Given the description of an element on the screen output the (x, y) to click on. 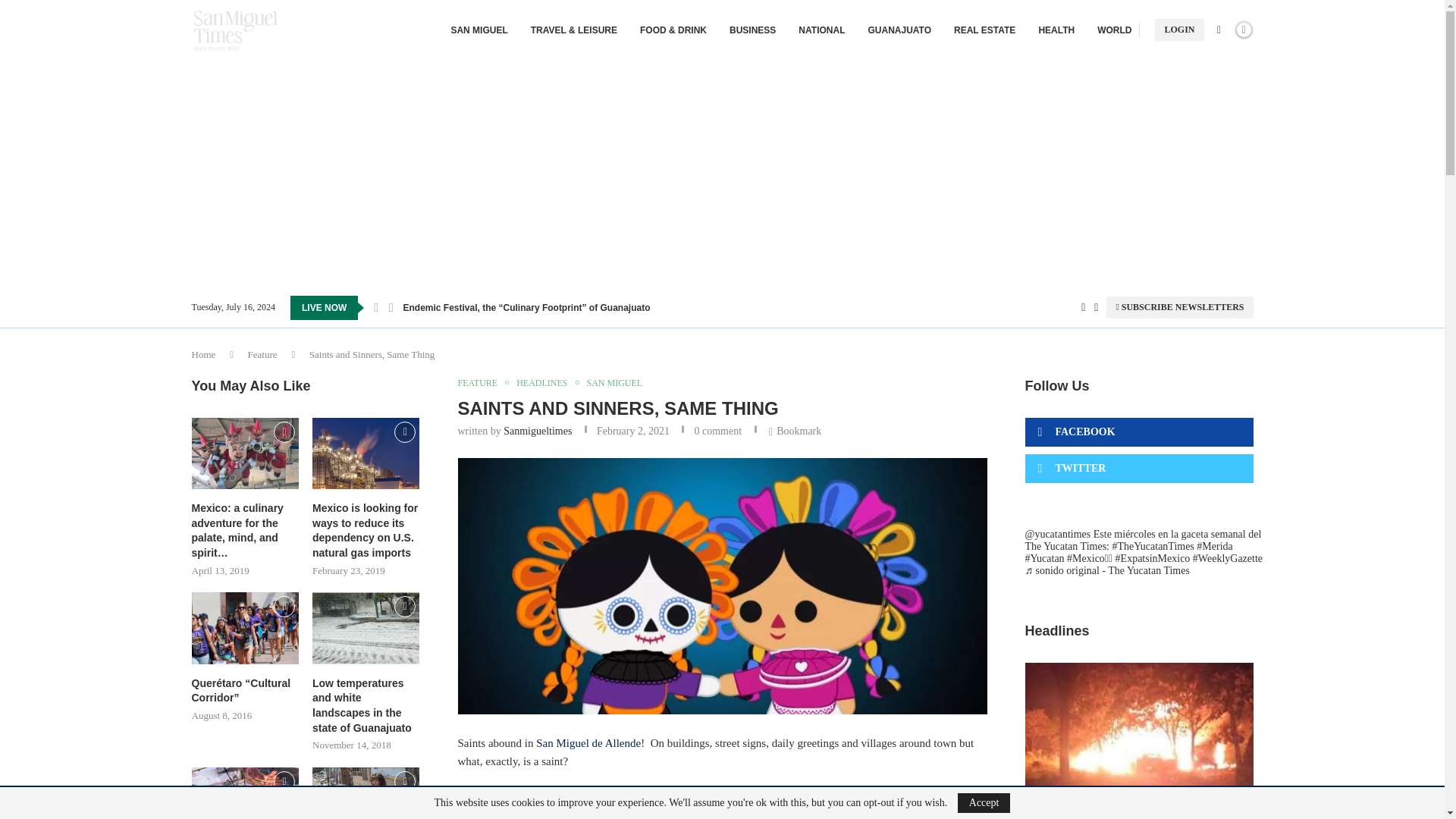
NATIONAL (820, 30)
SAN MIGUEL (477, 30)
HEALTH (1056, 30)
LOGIN (1179, 29)
GUANAJUATO (899, 30)
WORLD (1114, 30)
REAL ESTATE (983, 30)
BUSINESS (752, 30)
